Given the description of an element on the screen output the (x, y) to click on. 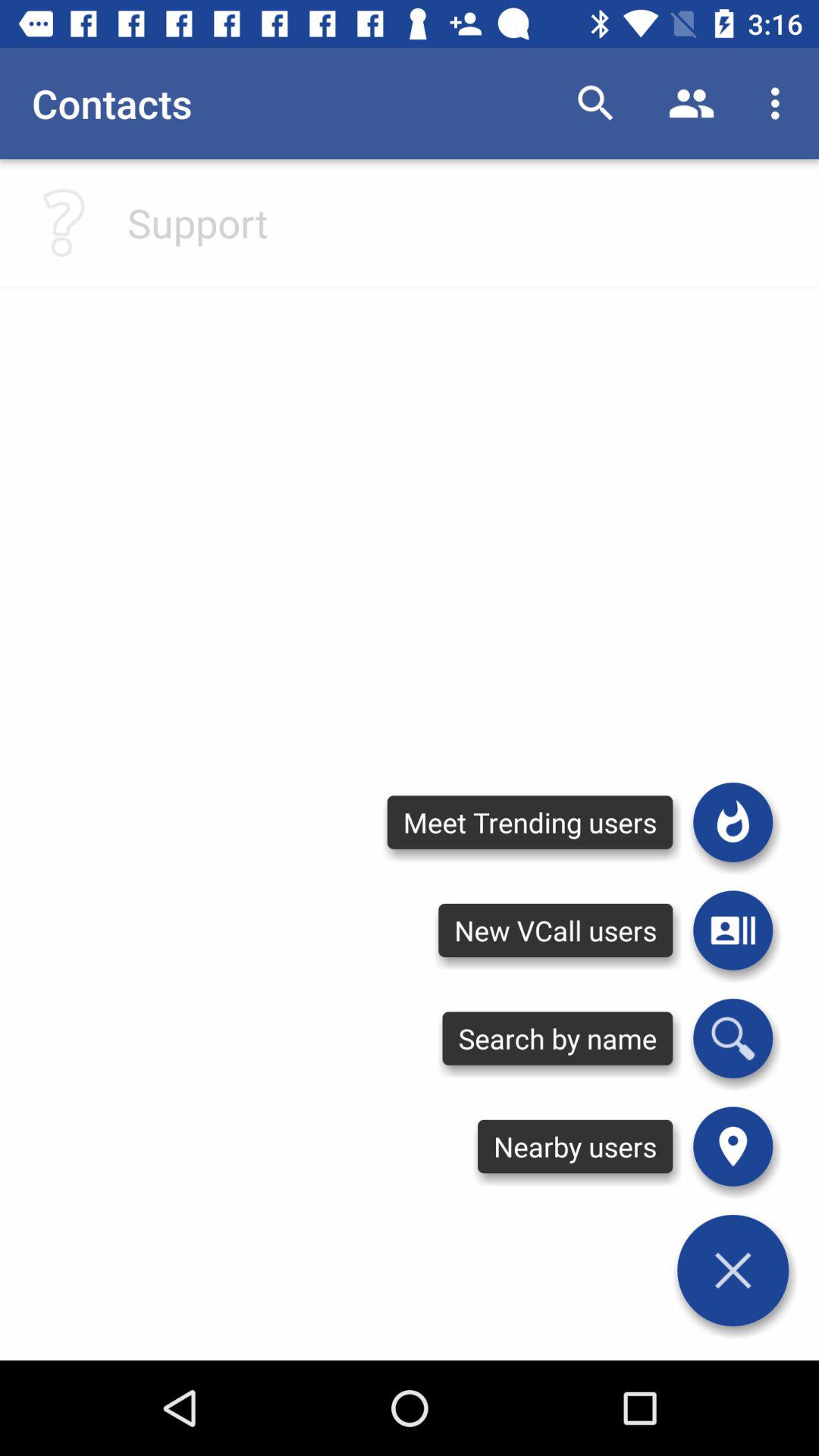
add a new vcall user (733, 930)
